Given the description of an element on the screen output the (x, y) to click on. 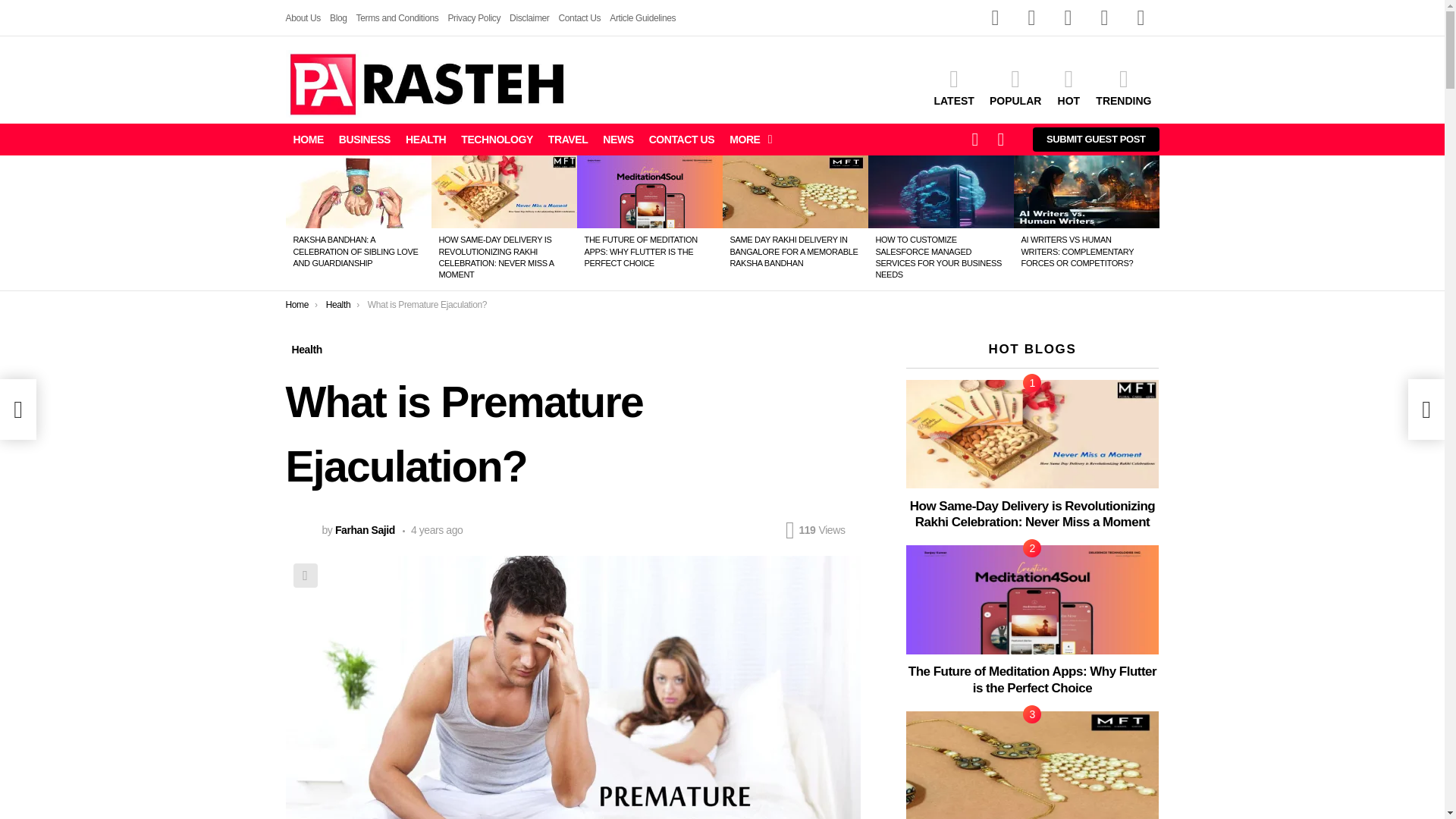
HOME (307, 138)
BUSINESS (364, 138)
NEWS (617, 138)
instagram (1031, 18)
HOT (1067, 86)
Contact Us (578, 17)
pinterest (1067, 18)
reddit (1104, 18)
TRAVEL (567, 138)
tumblr (1140, 18)
TECHNOLOGY (496, 138)
